Given the description of an element on the screen output the (x, y) to click on. 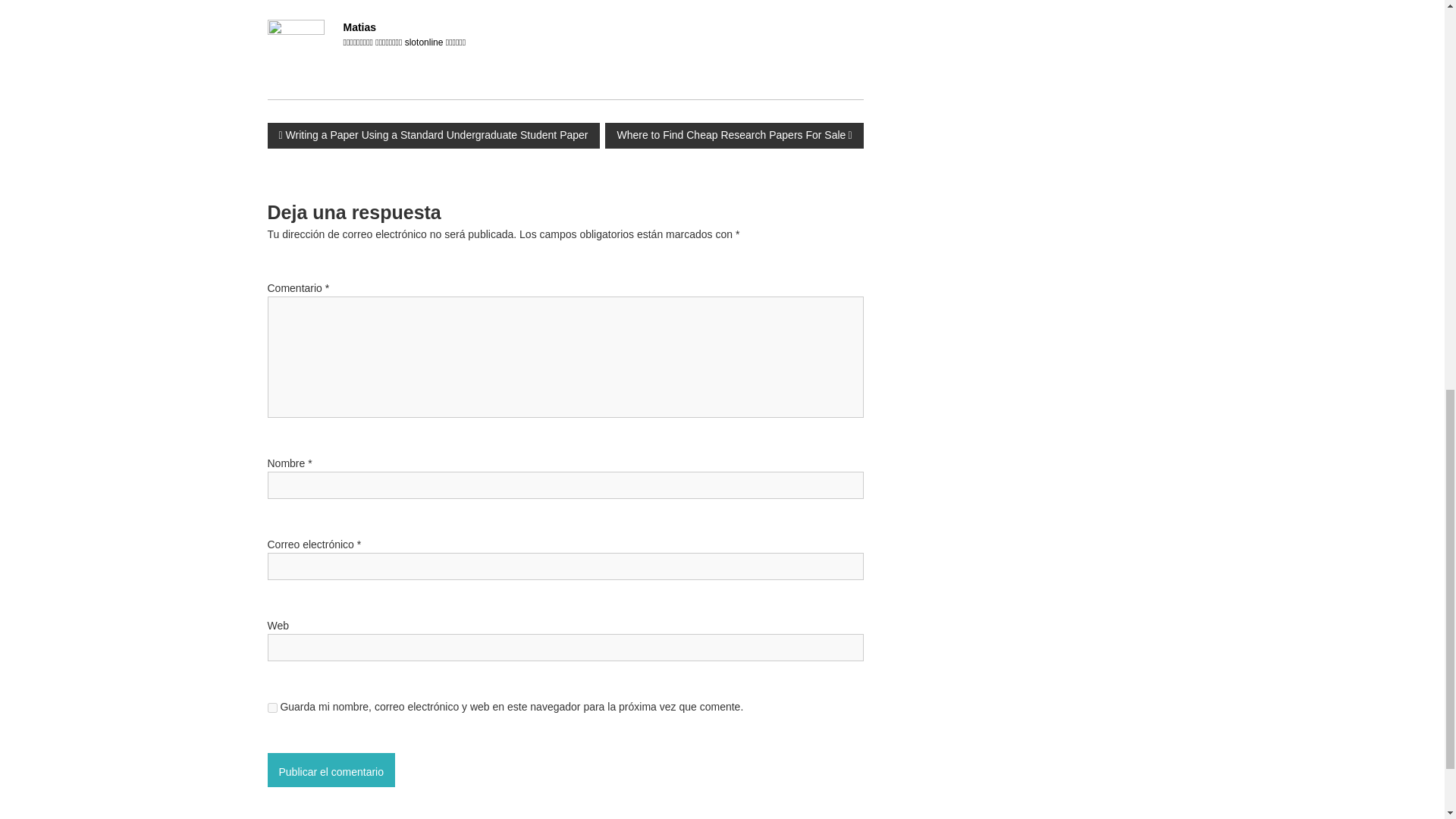
Publicar el comentario (330, 769)
slotonline (424, 41)
Publicar el comentario (330, 769)
Matias (358, 27)
yes (271, 707)
Writing a Paper Using a Standard Undergraduate Student Paper (432, 135)
Where to Find Cheap Research Papers For Sale (734, 135)
